Given the description of an element on the screen output the (x, y) to click on. 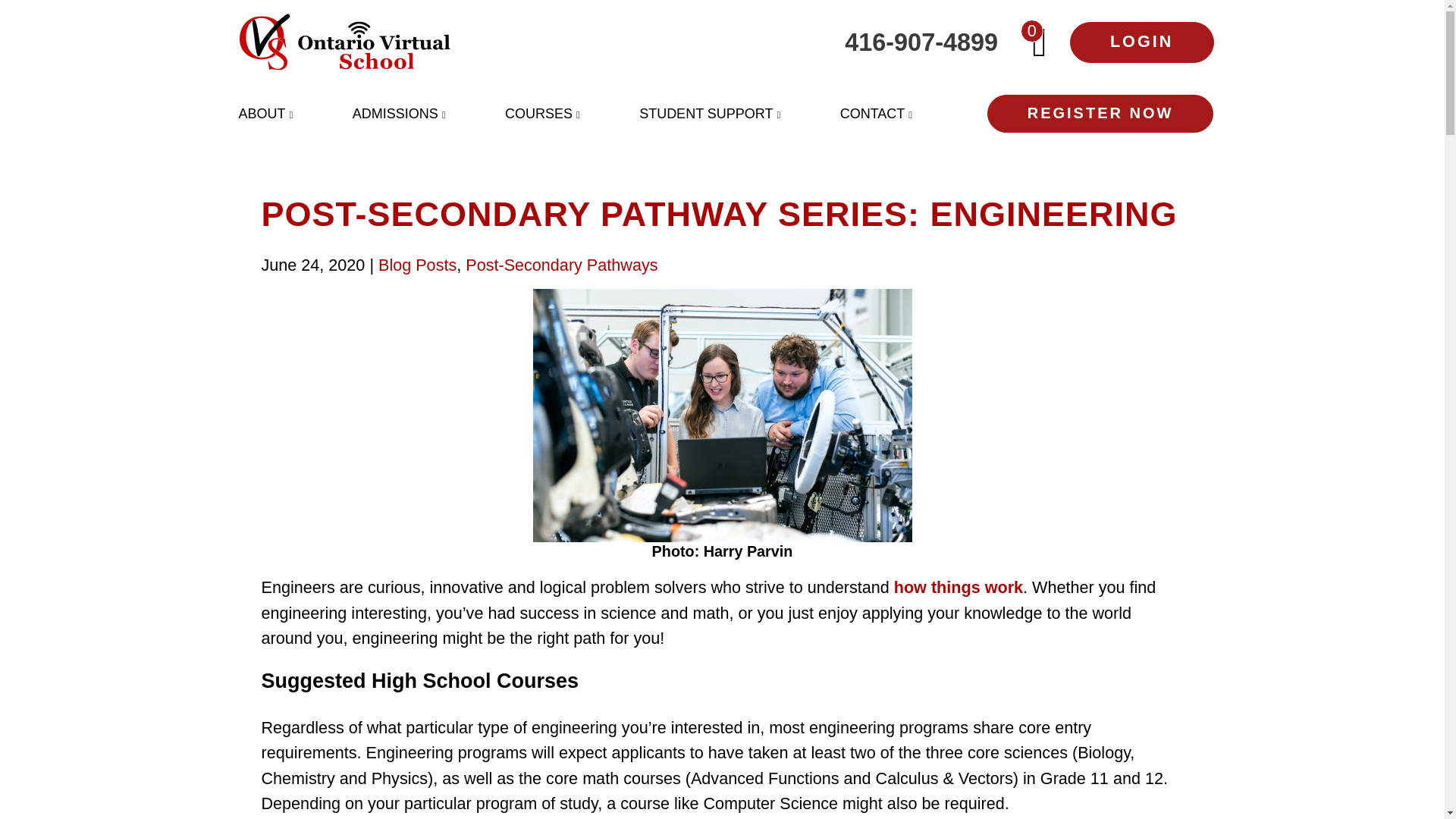
416-907-4899 (727, 42)
Ontario Virtual School (344, 42)
LOGIN (1142, 42)
COURSES (542, 113)
ABOUT (264, 113)
ADMISSIONS (398, 113)
STUDENT SUPPORT (709, 113)
